Given the description of an element on the screen output the (x, y) to click on. 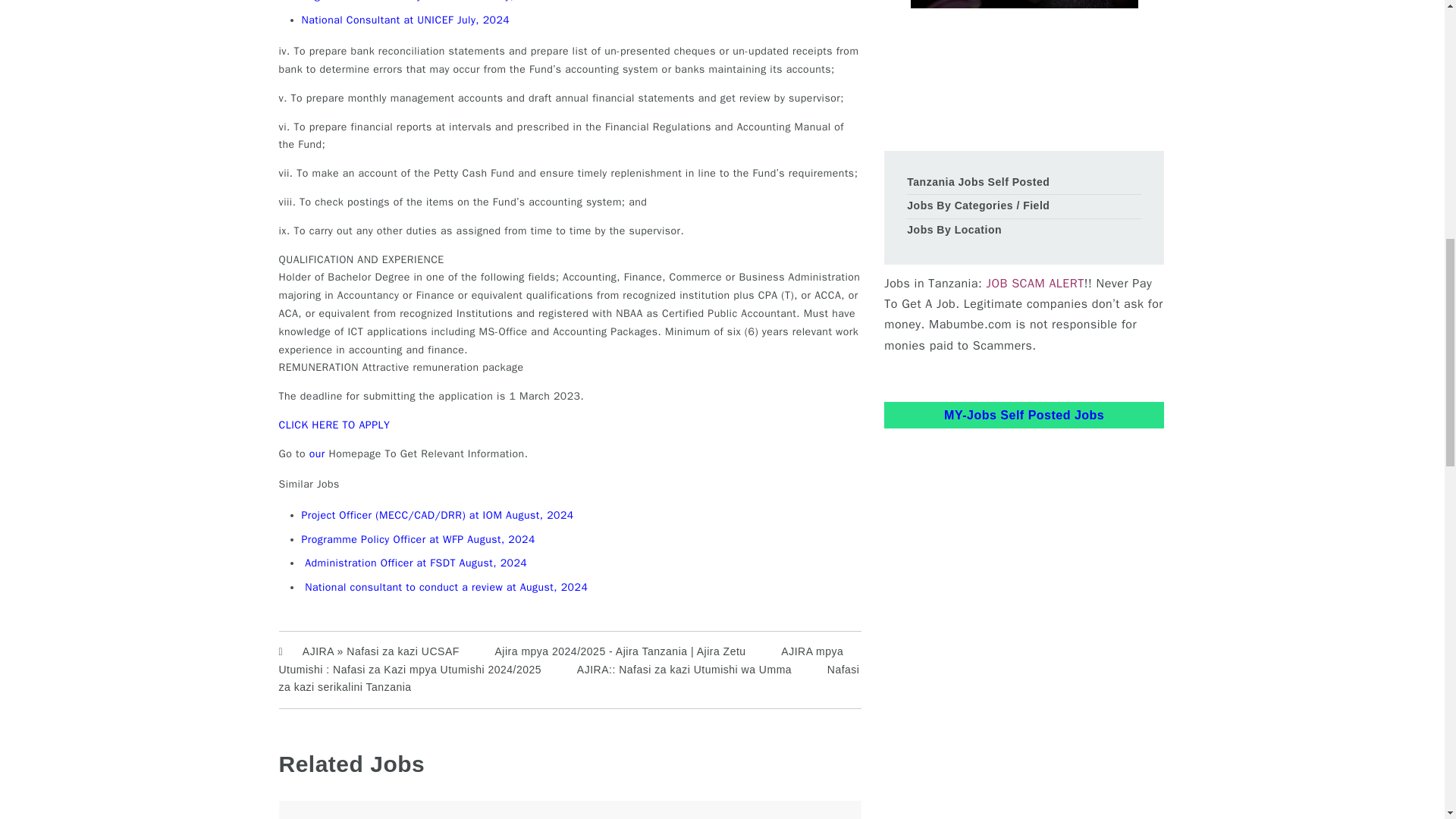
CLICK HERE TO APPLY (334, 424)
National Consultant at UNICEF July, 2024 (406, 19)
